Given the description of an element on the screen output the (x, y) to click on. 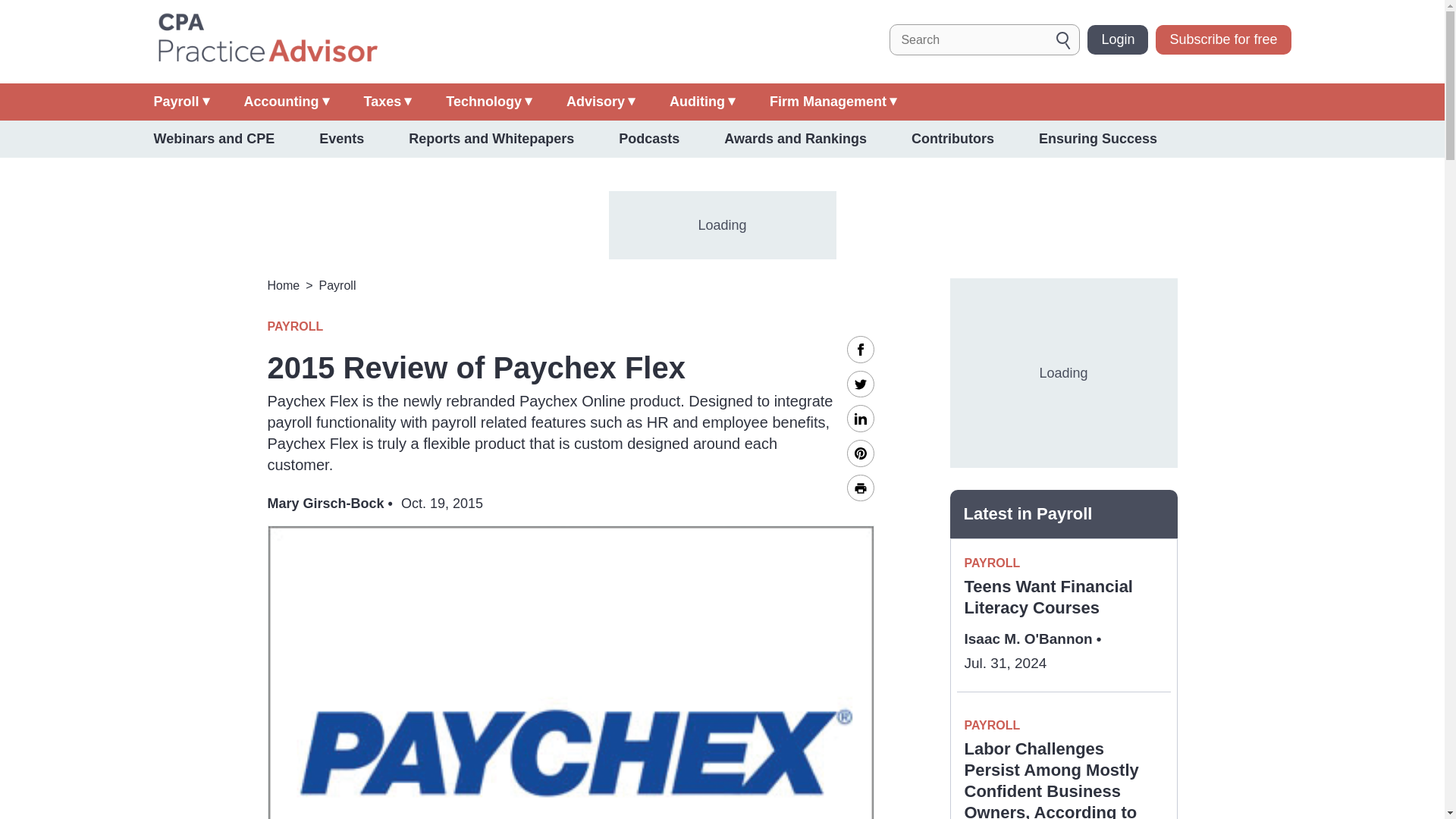
Auditing (702, 101)
Payroll (180, 101)
Taxes (388, 101)
Subscribe for free (1223, 39)
Accounting (287, 101)
Home (266, 39)
Advisory (600, 101)
Technology (488, 101)
Login (1117, 39)
